Given the description of an element on the screen output the (x, y) to click on. 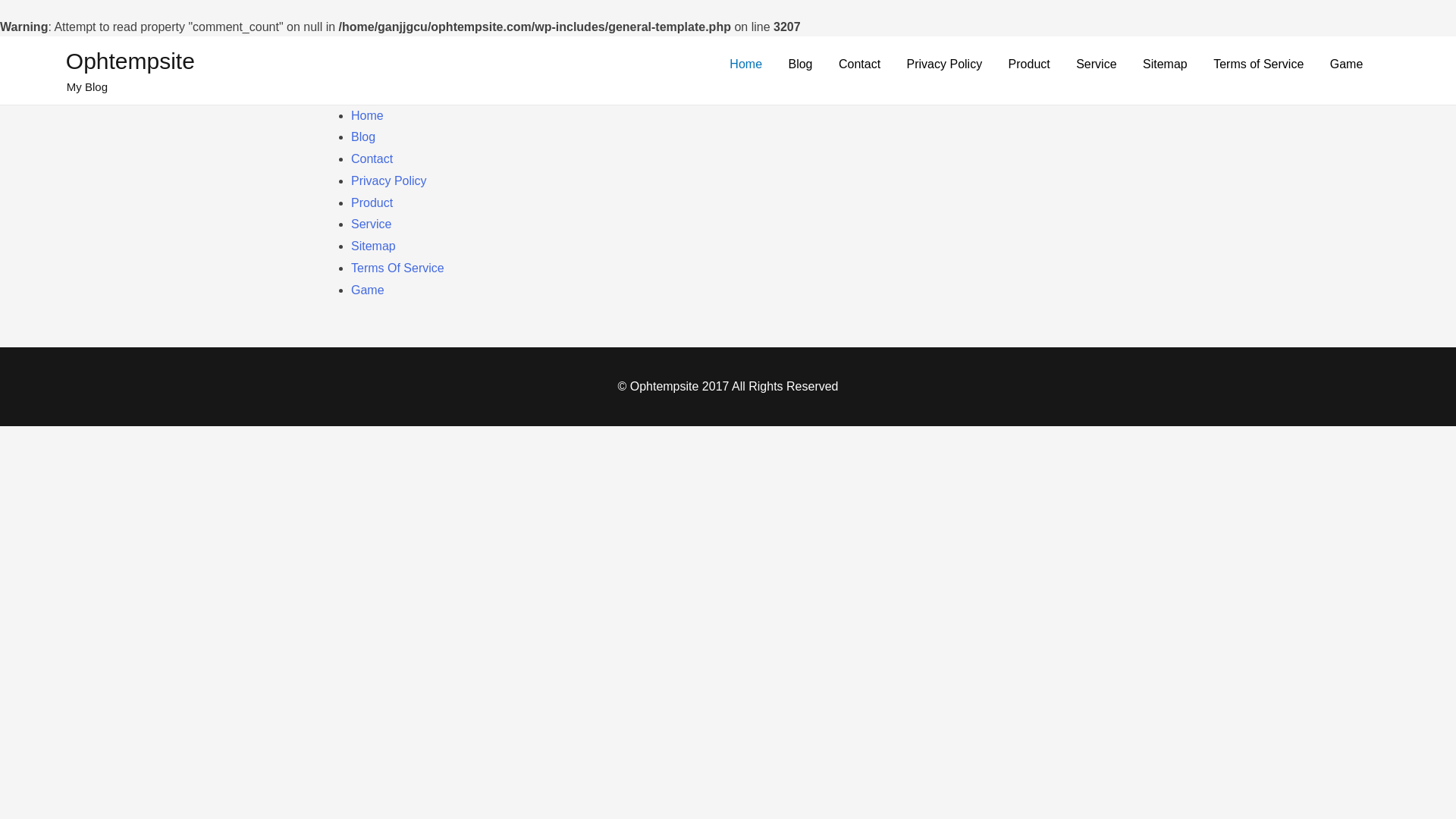
Home (745, 64)
Product (371, 202)
Terms Of Service (397, 267)
Service (1095, 64)
Home (367, 115)
Blog (362, 136)
Privacy Policy (388, 180)
Game (367, 289)
Sitemap (1164, 64)
Sitemap (373, 245)
